Given the description of an element on the screen output the (x, y) to click on. 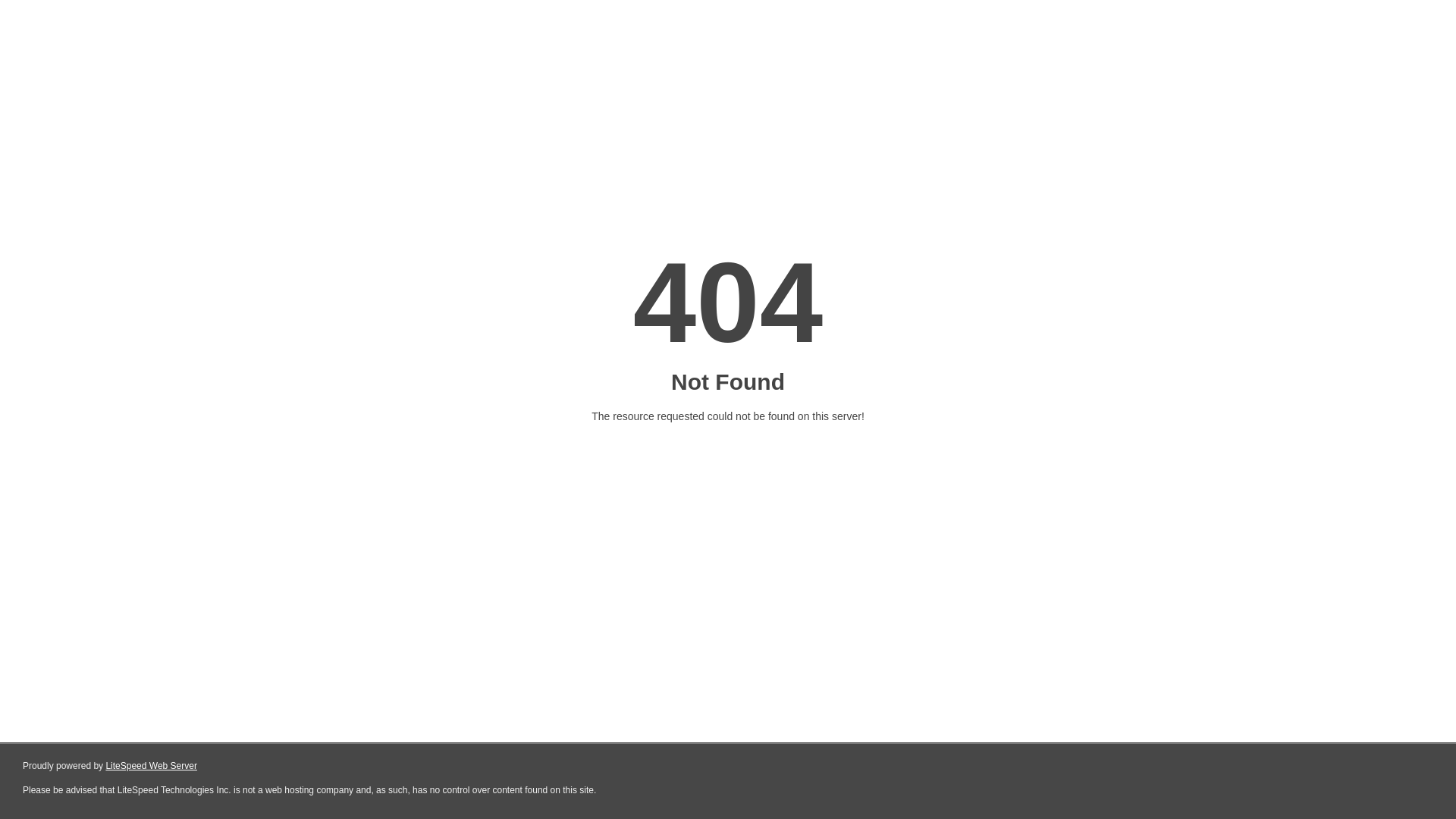
LiteSpeed Web Server Element type: text (151, 765)
